Given the description of an element on the screen output the (x, y) to click on. 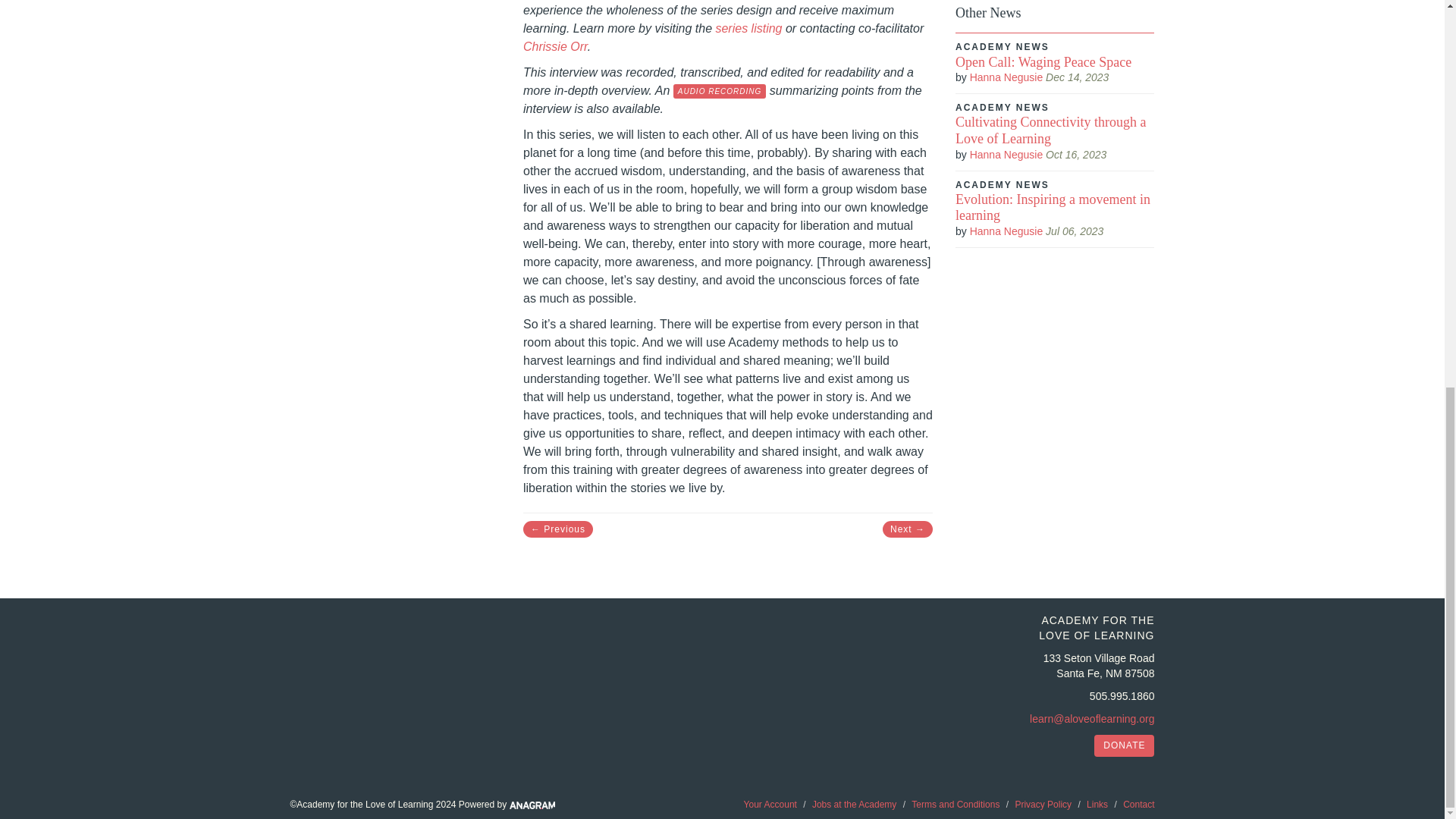
Chrissie Orr (555, 46)
Posts by Hanna Negusie (1006, 231)
series listing (747, 28)
AUDIO RECORDING (719, 91)
Posts by Hanna Negusie (1006, 154)
Posts by Hanna Negusie (1006, 77)
